Given the description of an element on the screen output the (x, y) to click on. 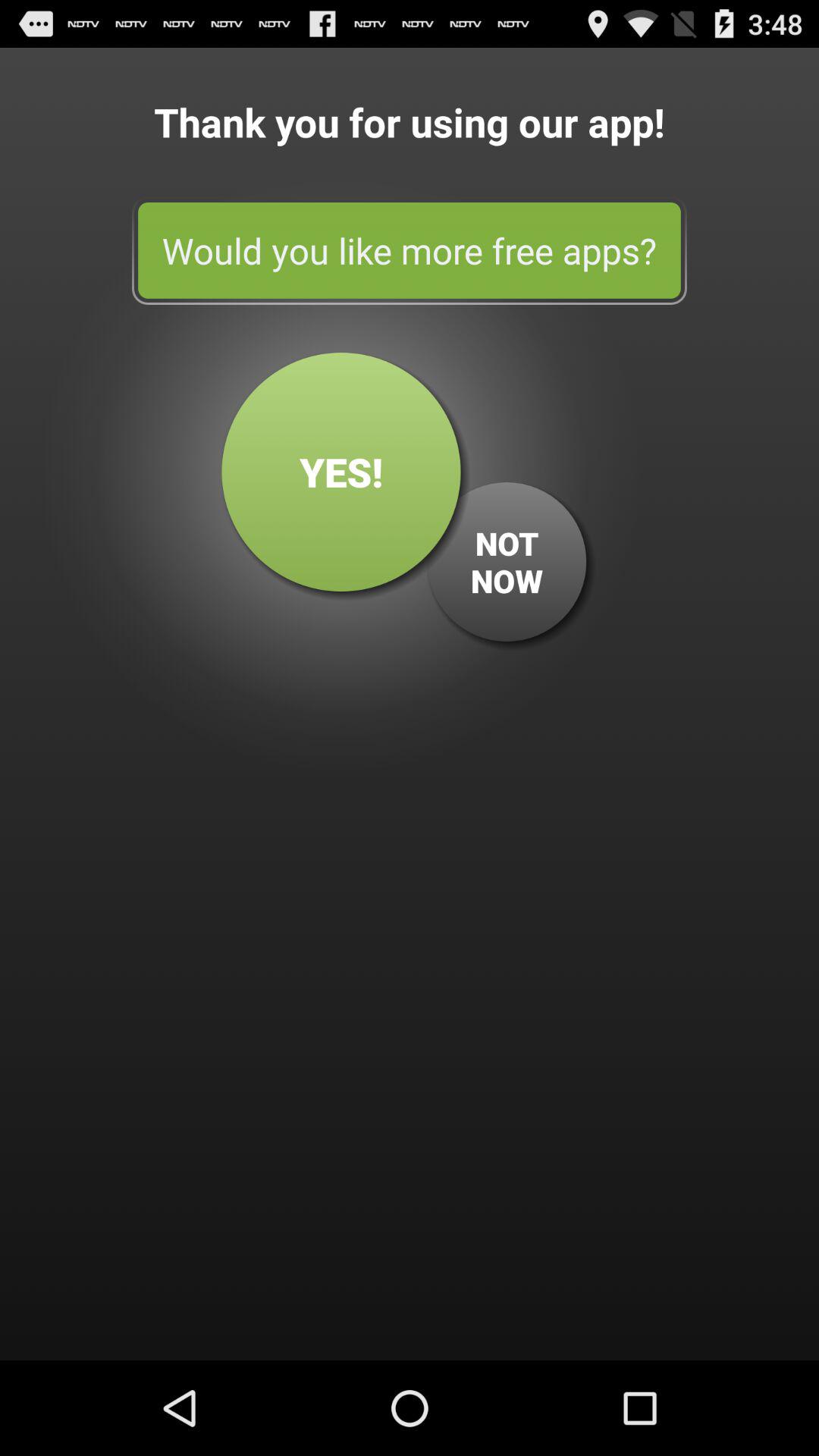
click yes! button (340, 471)
